Given the description of an element on the screen output the (x, y) to click on. 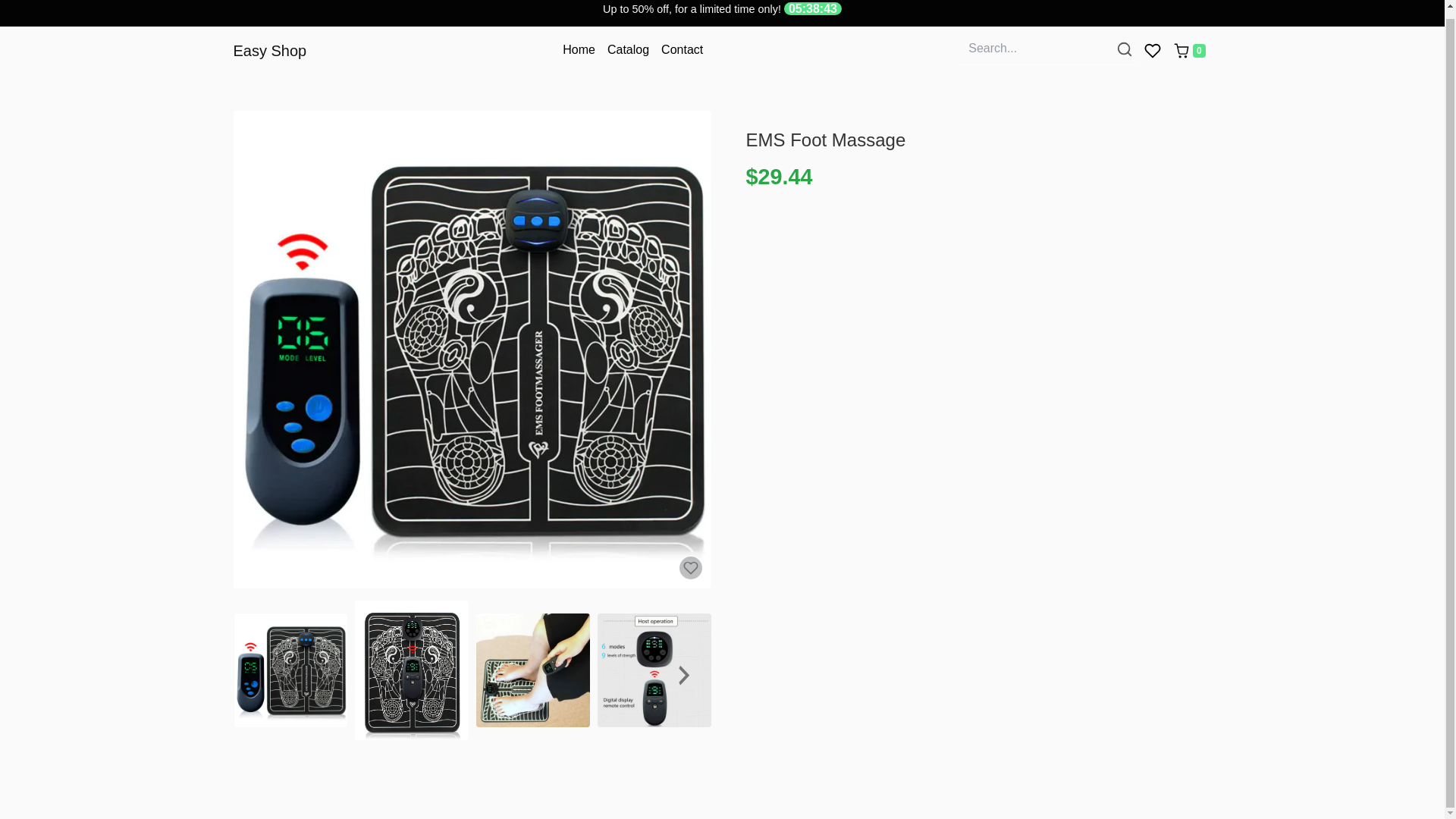
0 (1189, 50)
Home (578, 49)
Easy Shop (269, 50)
Catalog (628, 49)
Contact (682, 49)
